Given the description of an element on the screen output the (x, y) to click on. 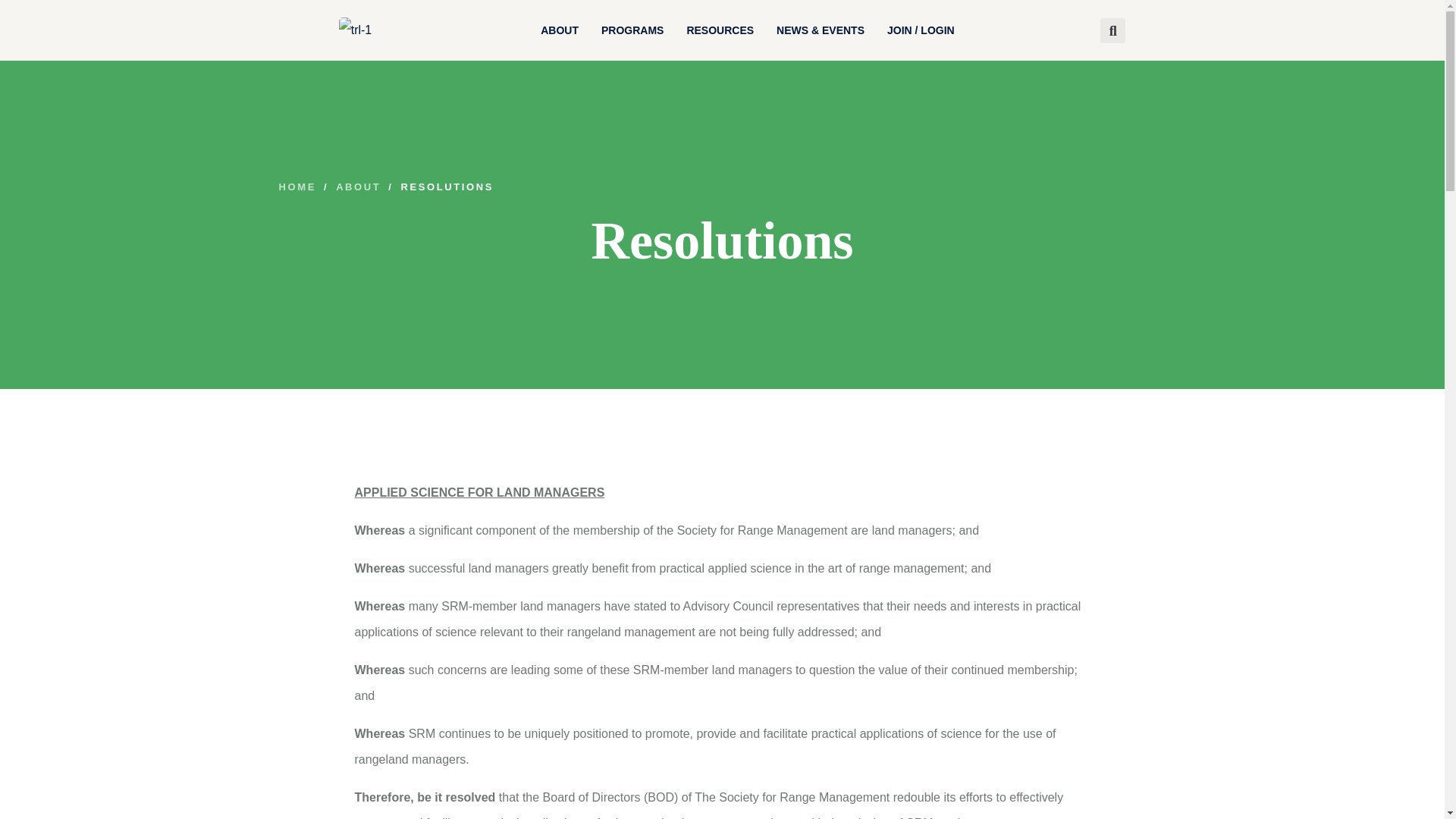
Programs (632, 30)
ABOUT (559, 30)
RESOURCES (720, 30)
trl-1 (355, 30)
Resources (720, 30)
About (559, 30)
PROGRAMS (632, 30)
